Given the description of an element on the screen output the (x, y) to click on. 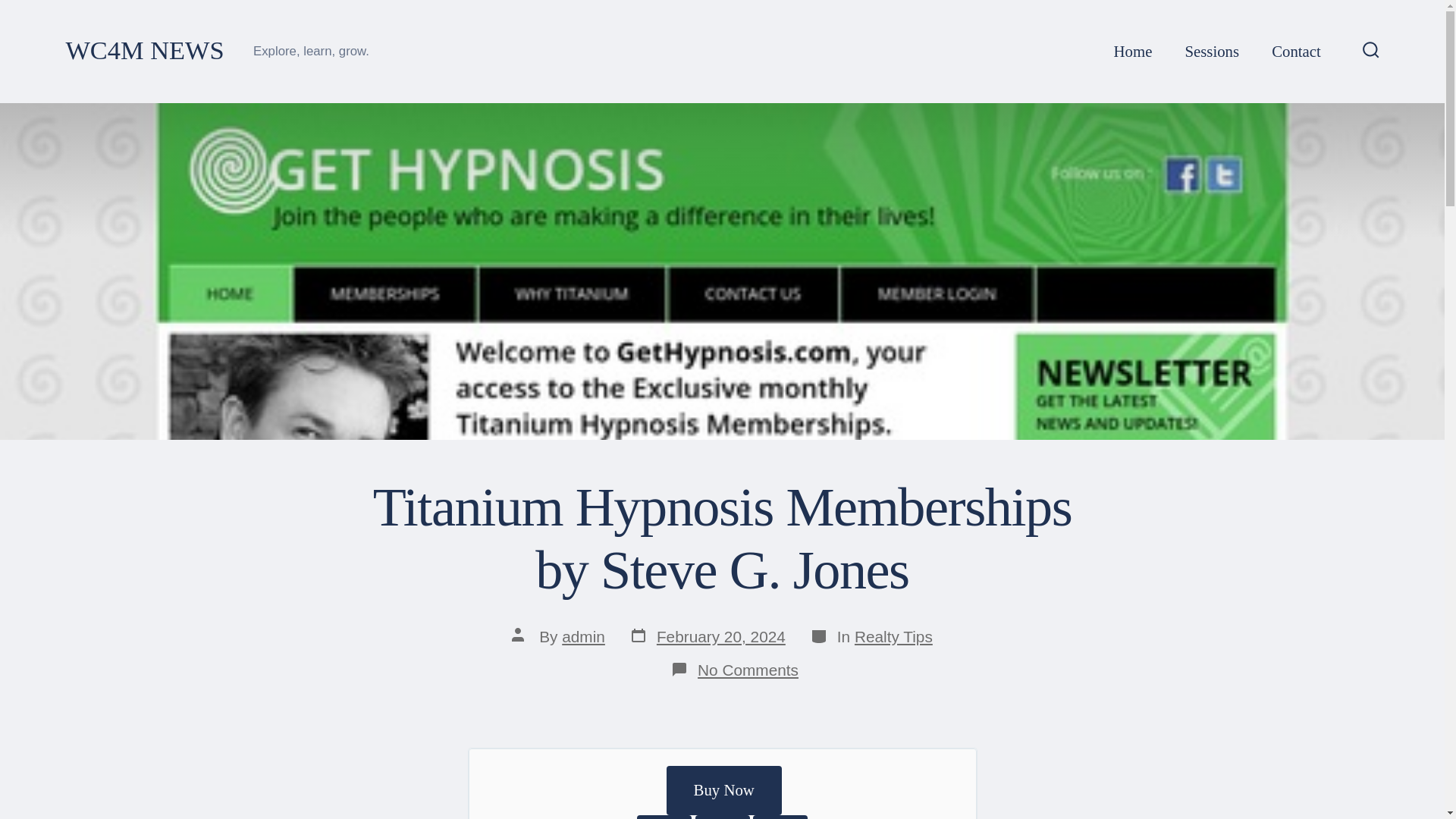
Realty Tips (893, 636)
Search Toggle (1371, 50)
Home (1133, 51)
Contact (1295, 51)
WC4M NEWS (707, 636)
Buy Now (144, 51)
admin (723, 790)
Sessions (583, 636)
